Given the description of an element on the screen output the (x, y) to click on. 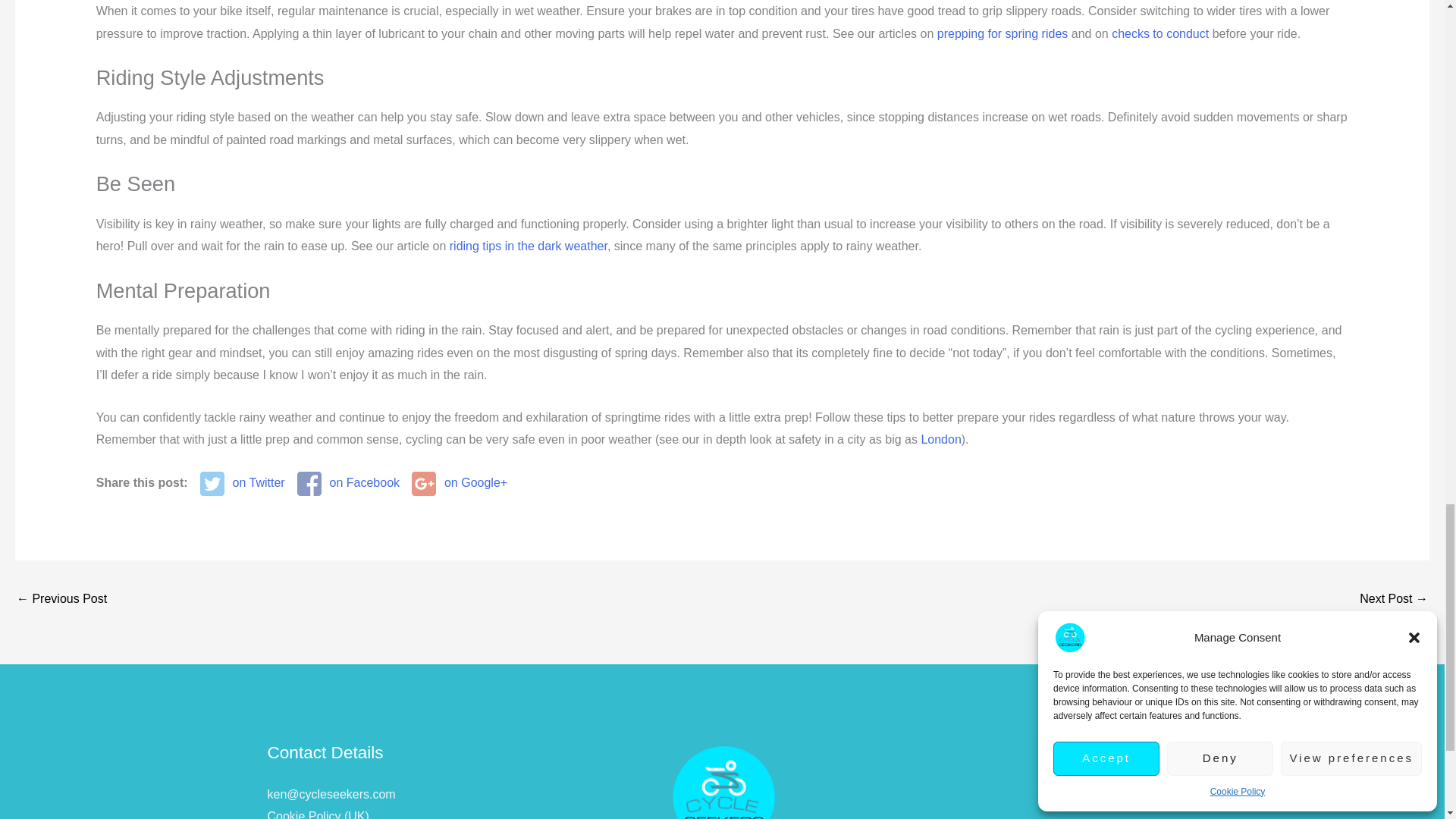
London (940, 439)
on Facebook (347, 483)
prepping for spring rides (1002, 33)
on Twitter (242, 483)
checks to conduct (1160, 33)
riding tips in the dark weather (528, 245)
